Given the description of an element on the screen output the (x, y) to click on. 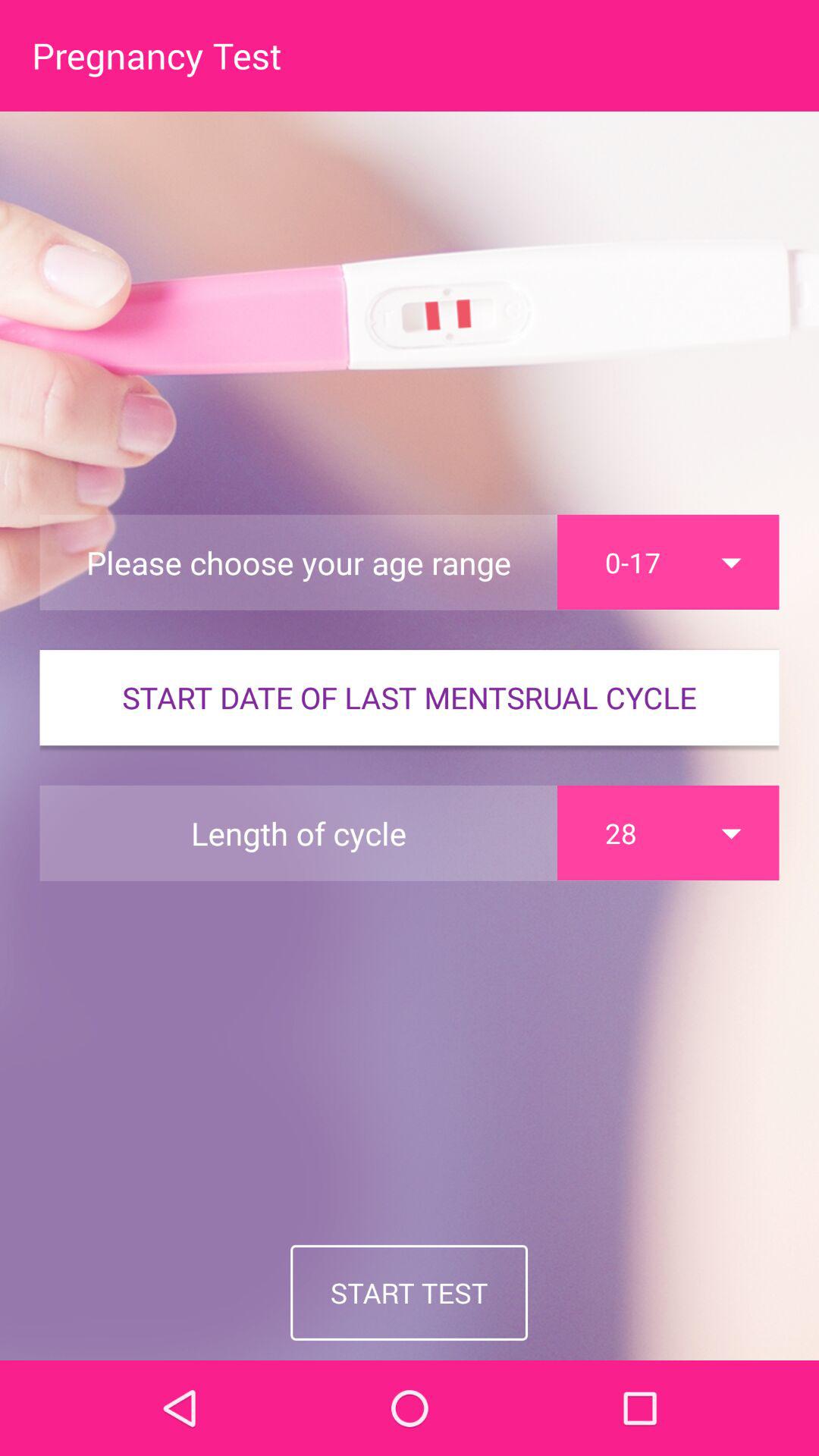
open the item below the start date of (668, 832)
